Given the description of an element on the screen output the (x, y) to click on. 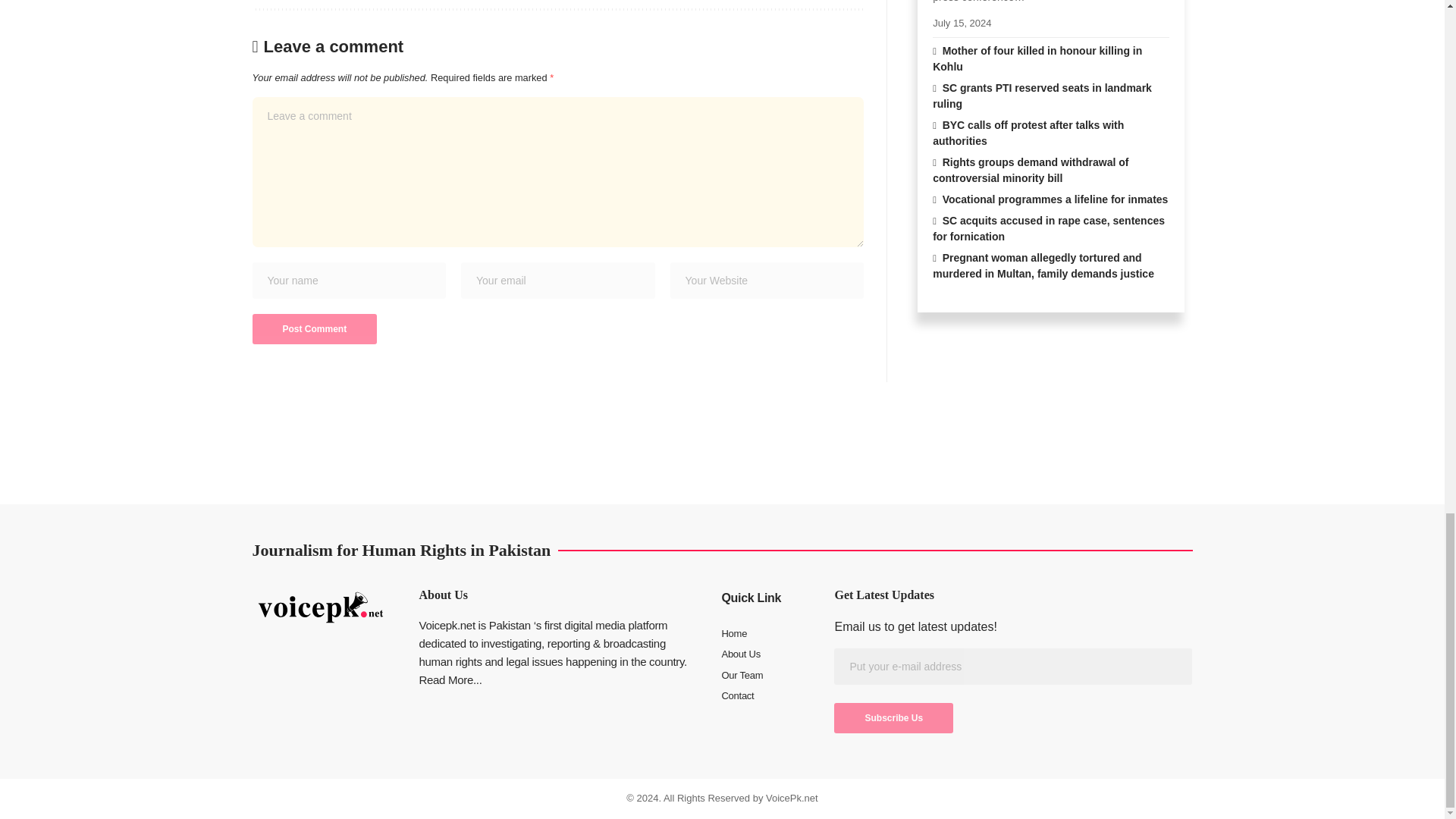
Subscribe Us (893, 717)
Post Comment (314, 328)
